Given the description of an element on the screen output the (x, y) to click on. 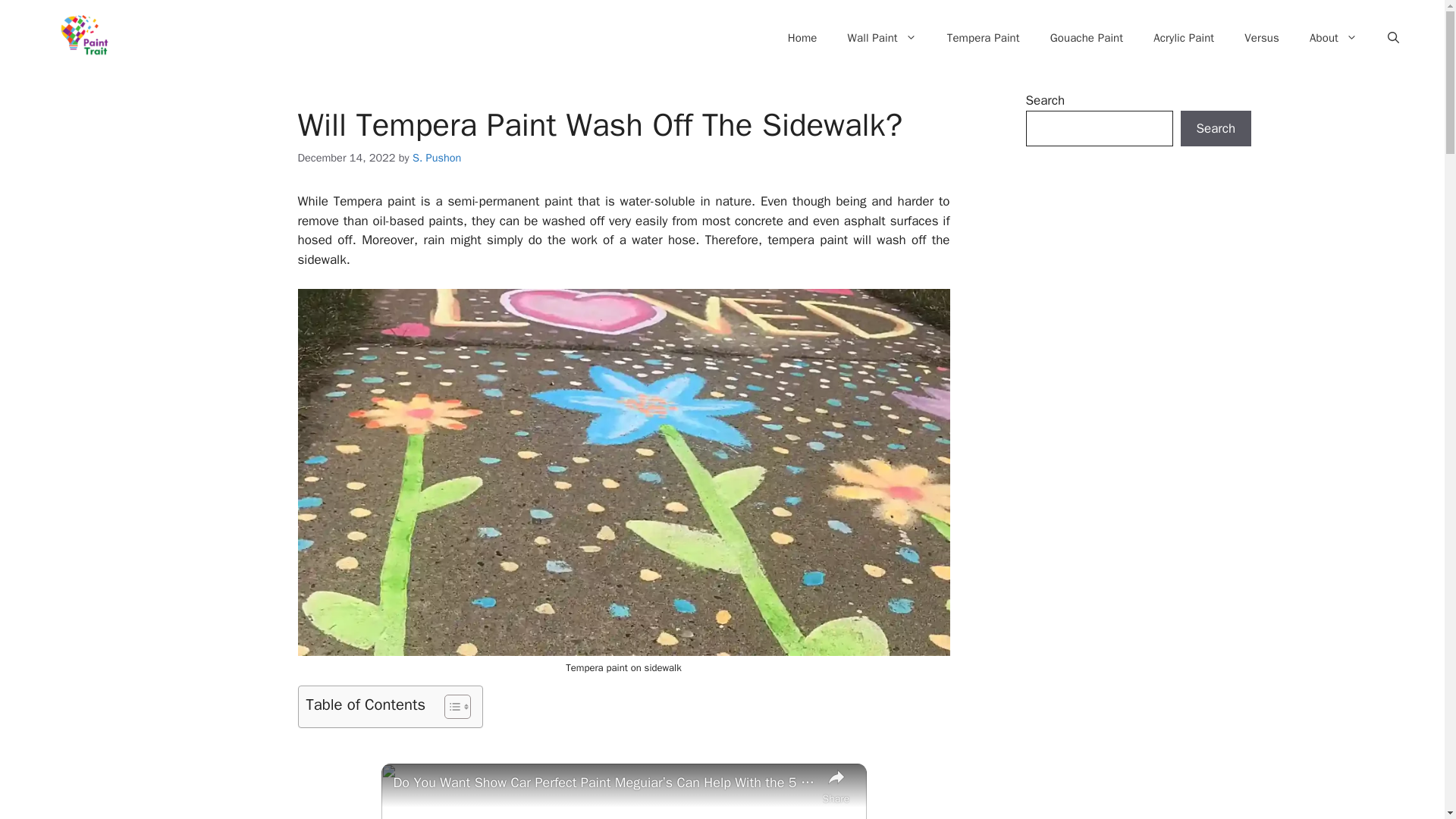
Tempera Paint (983, 37)
Versus (1261, 37)
S. Pushon (436, 157)
Gouache Paint (1086, 37)
Wall Paint (881, 37)
View all posts by S. Pushon (436, 157)
Home (802, 37)
About (1333, 37)
Acrylic Paint (1183, 37)
